Given the description of an element on the screen output the (x, y) to click on. 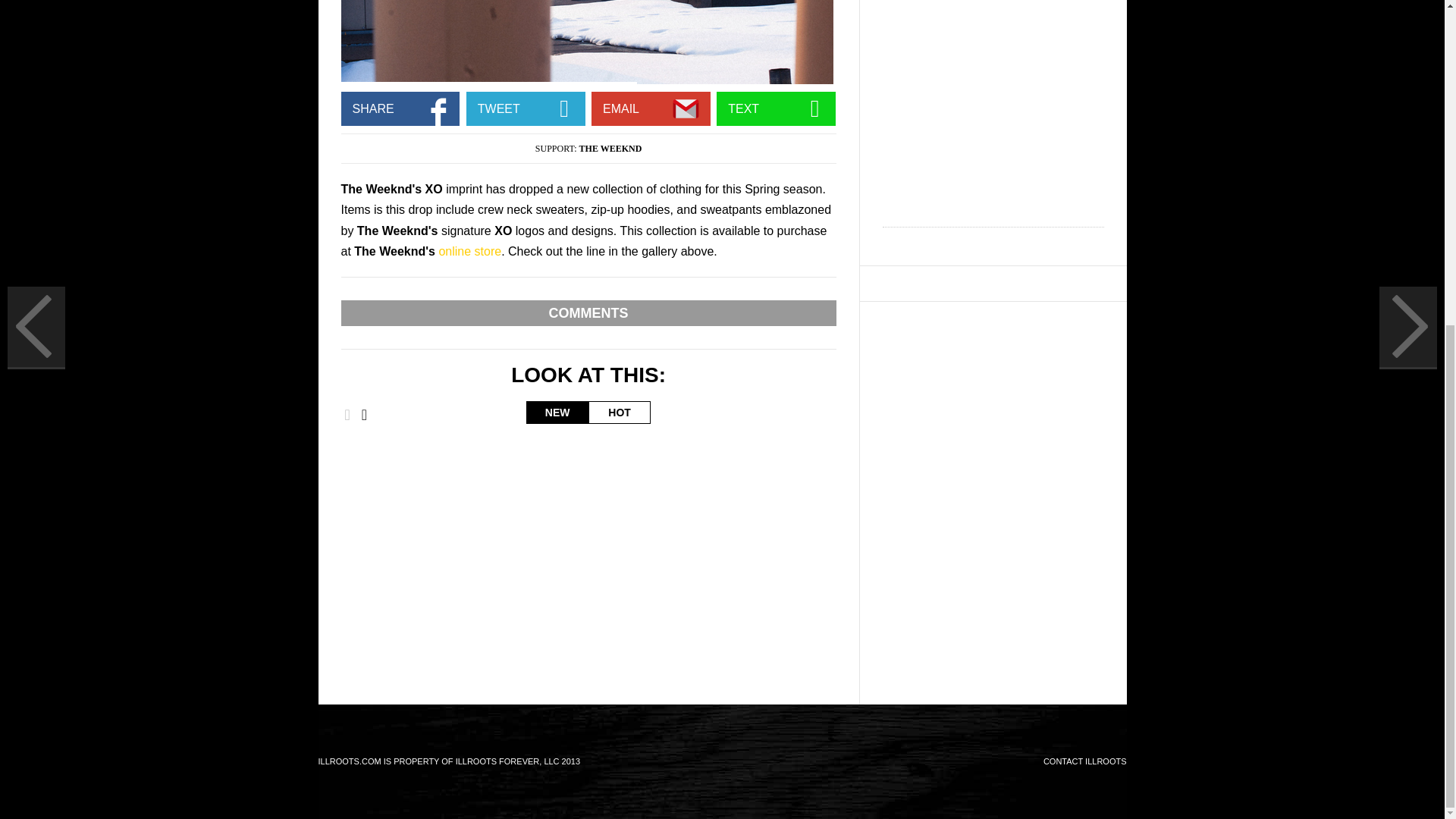
Email (689, 108)
iMessage (814, 108)
Tweet (564, 108)
Email (438, 108)
